Given the description of an element on the screen output the (x, y) to click on. 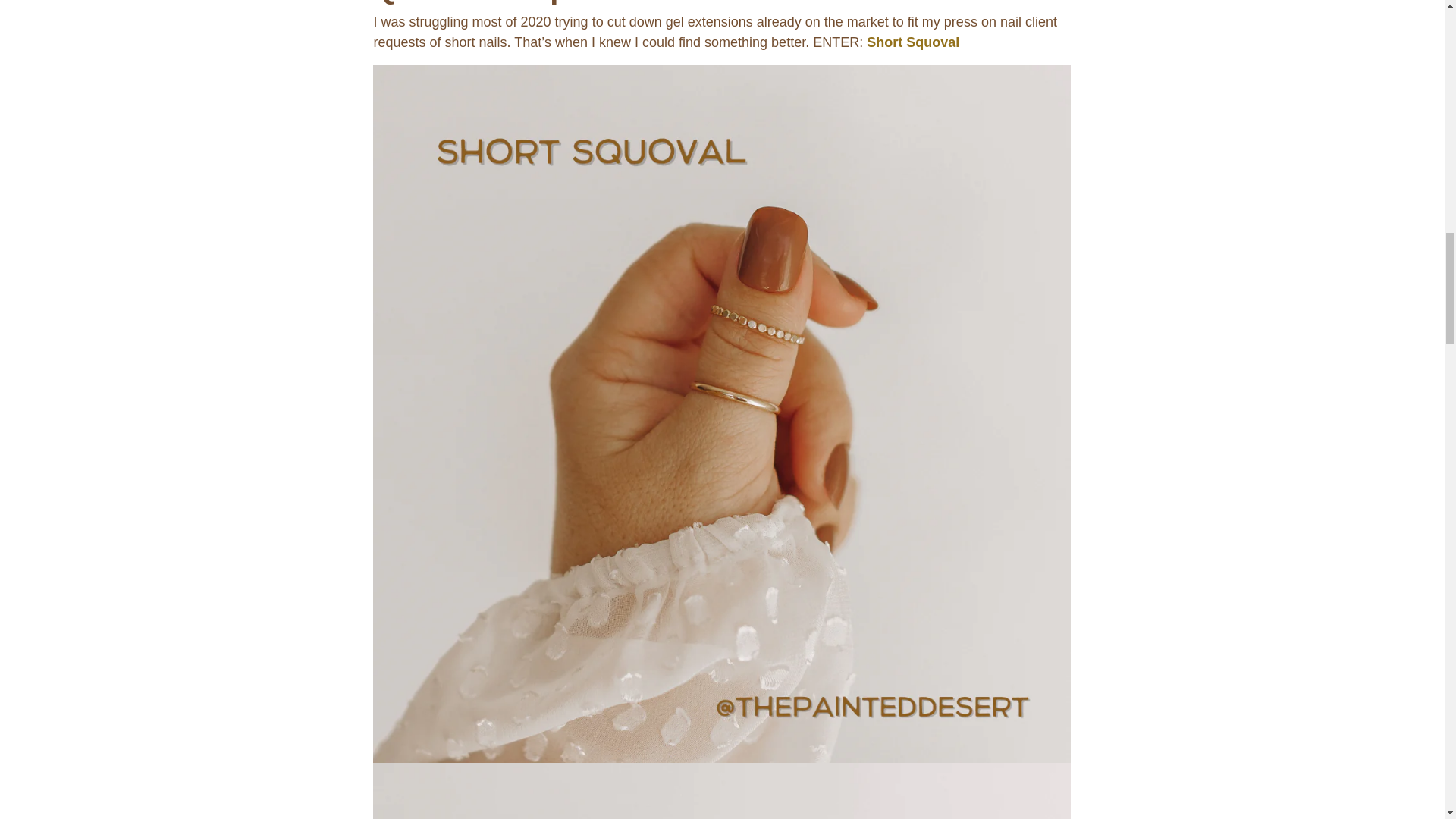
XS Short Squoval Gel Nail Tips (912, 42)
